Given the description of an element on the screen output the (x, y) to click on. 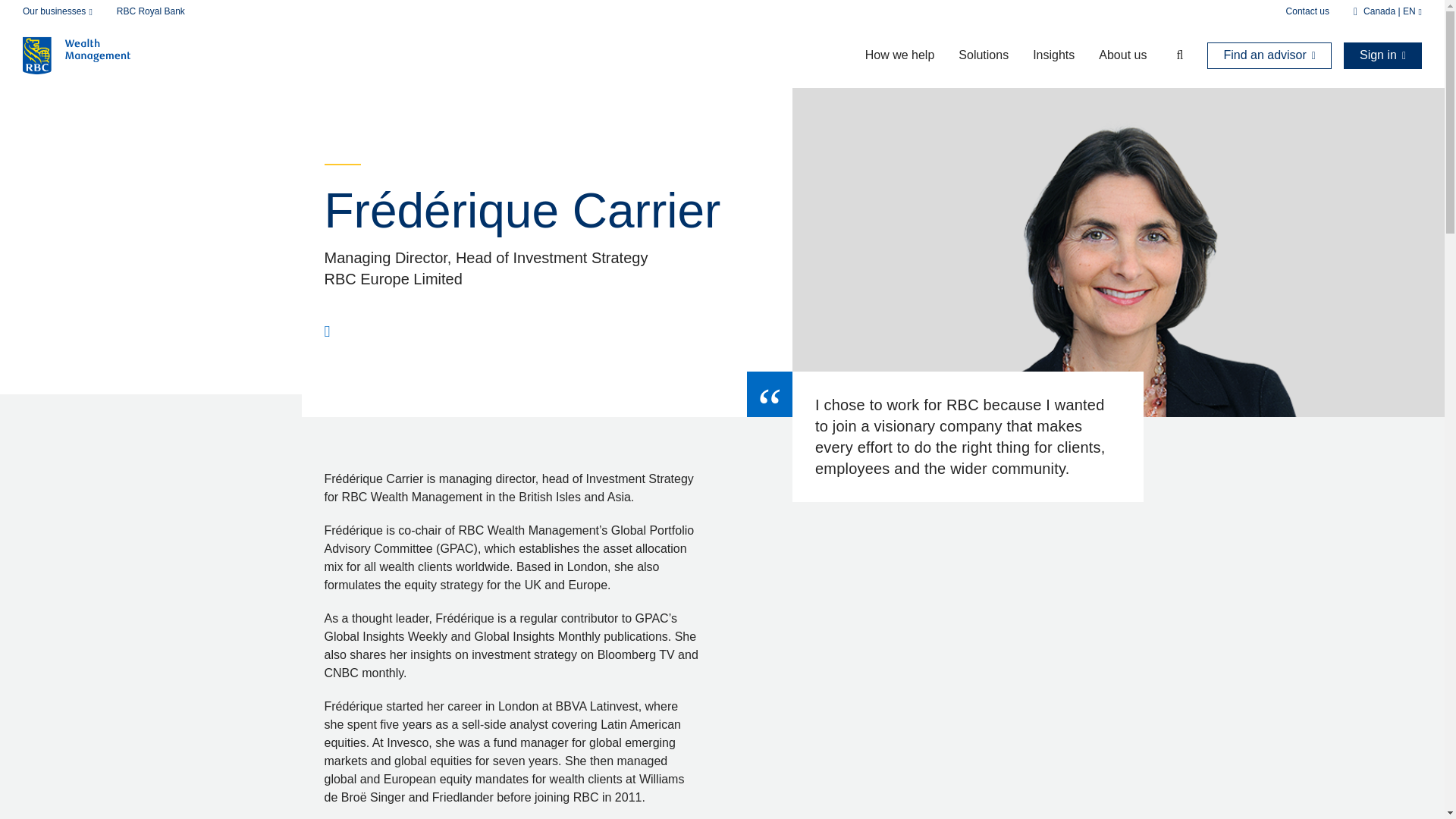
Search (1170, 55)
Our businesses (57, 10)
Find an advisor (1269, 55)
About us (1122, 55)
Insights (1053, 55)
Solutions (983, 55)
RBC Royal Bank (150, 10)
How we help (900, 55)
Contact us (1307, 10)
Sign in (1382, 55)
